Given the description of an element on the screen output the (x, y) to click on. 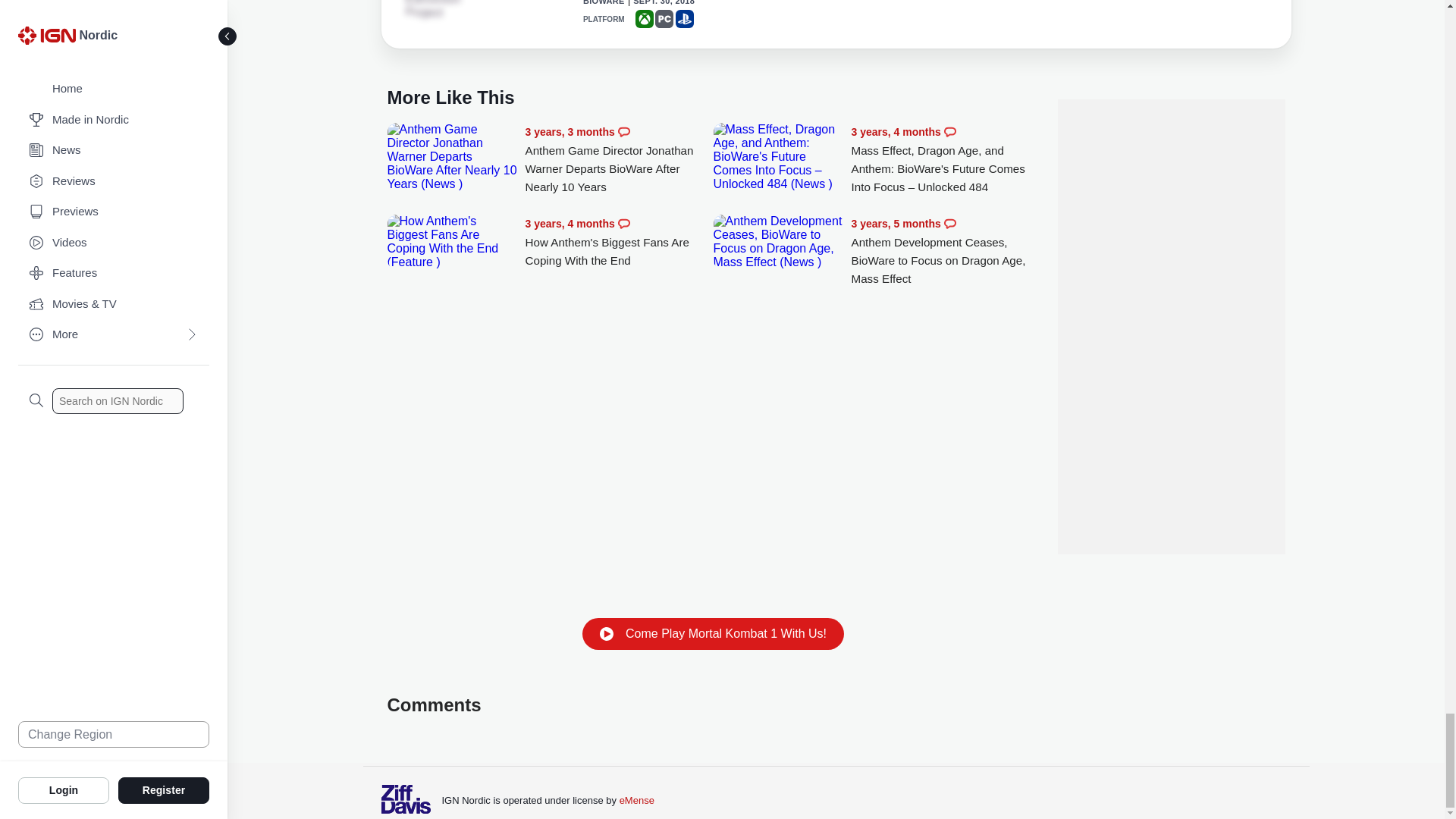
Comments (623, 132)
XBOXONE (643, 18)
How Anthem's Biggest Fans Are Coping With the End   (618, 242)
PS4 (684, 18)
How Anthem's Biggest Fans Are Coping With the End   (451, 241)
PC (663, 18)
BioWare Edmonton Project (448, 9)
Comments (949, 132)
